Given the description of an element on the screen output the (x, y) to click on. 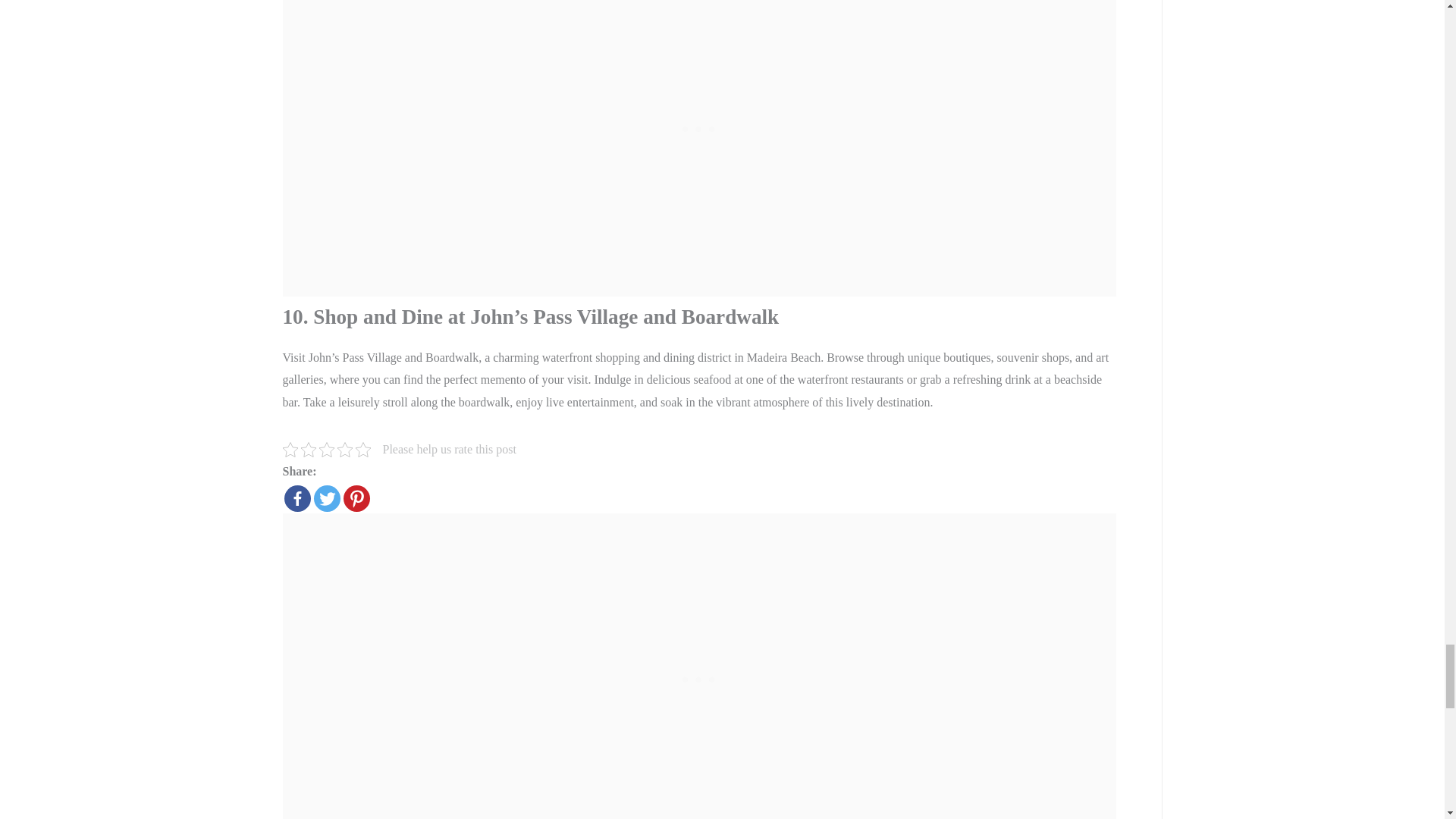
Facebook (296, 498)
Twitter (327, 498)
Pinterest (355, 498)
